Given the description of an element on the screen output the (x, y) to click on. 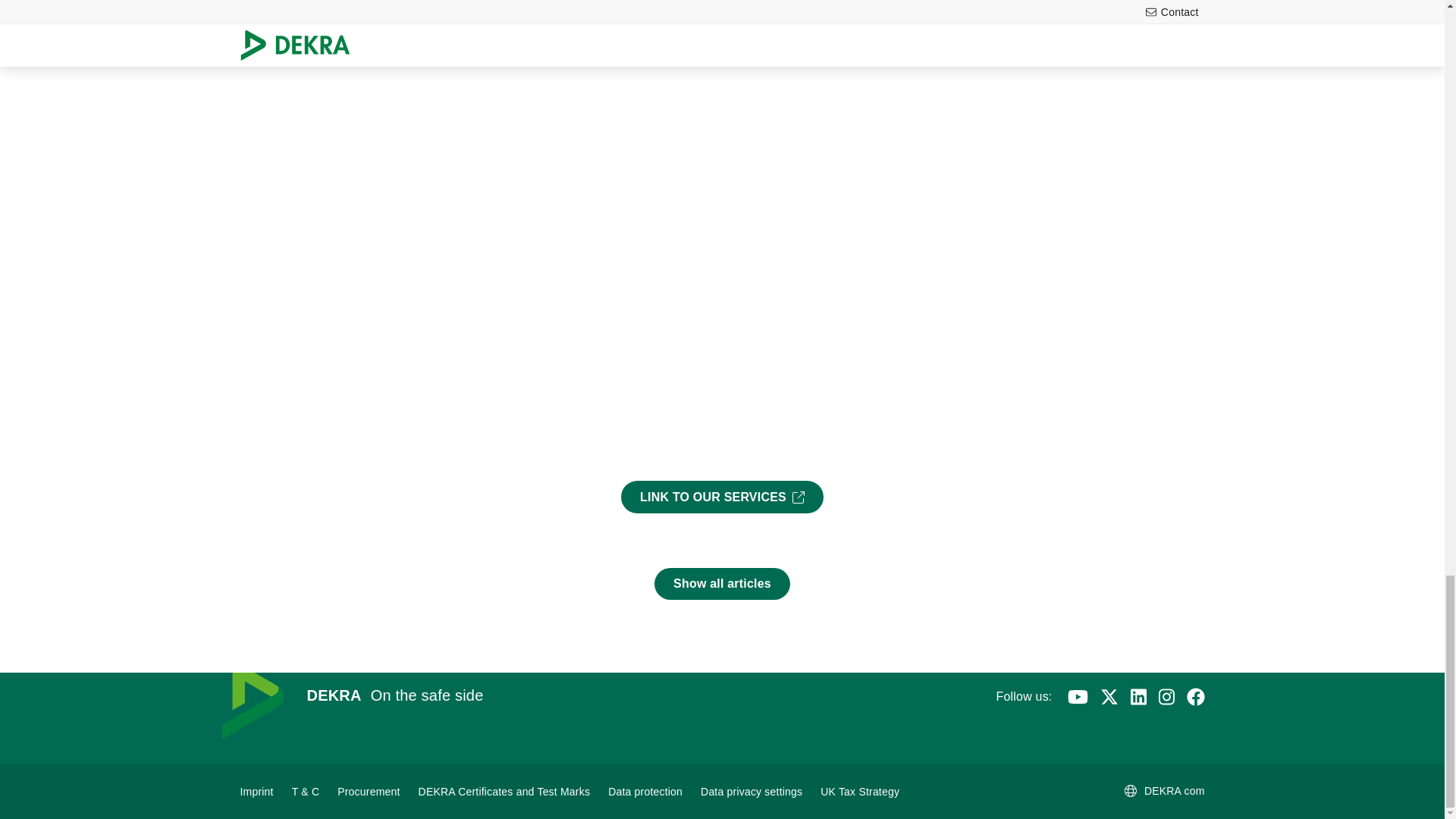
facebook (1195, 696)
x (1108, 696)
youtube (1077, 696)
